Given the description of an element on the screen output the (x, y) to click on. 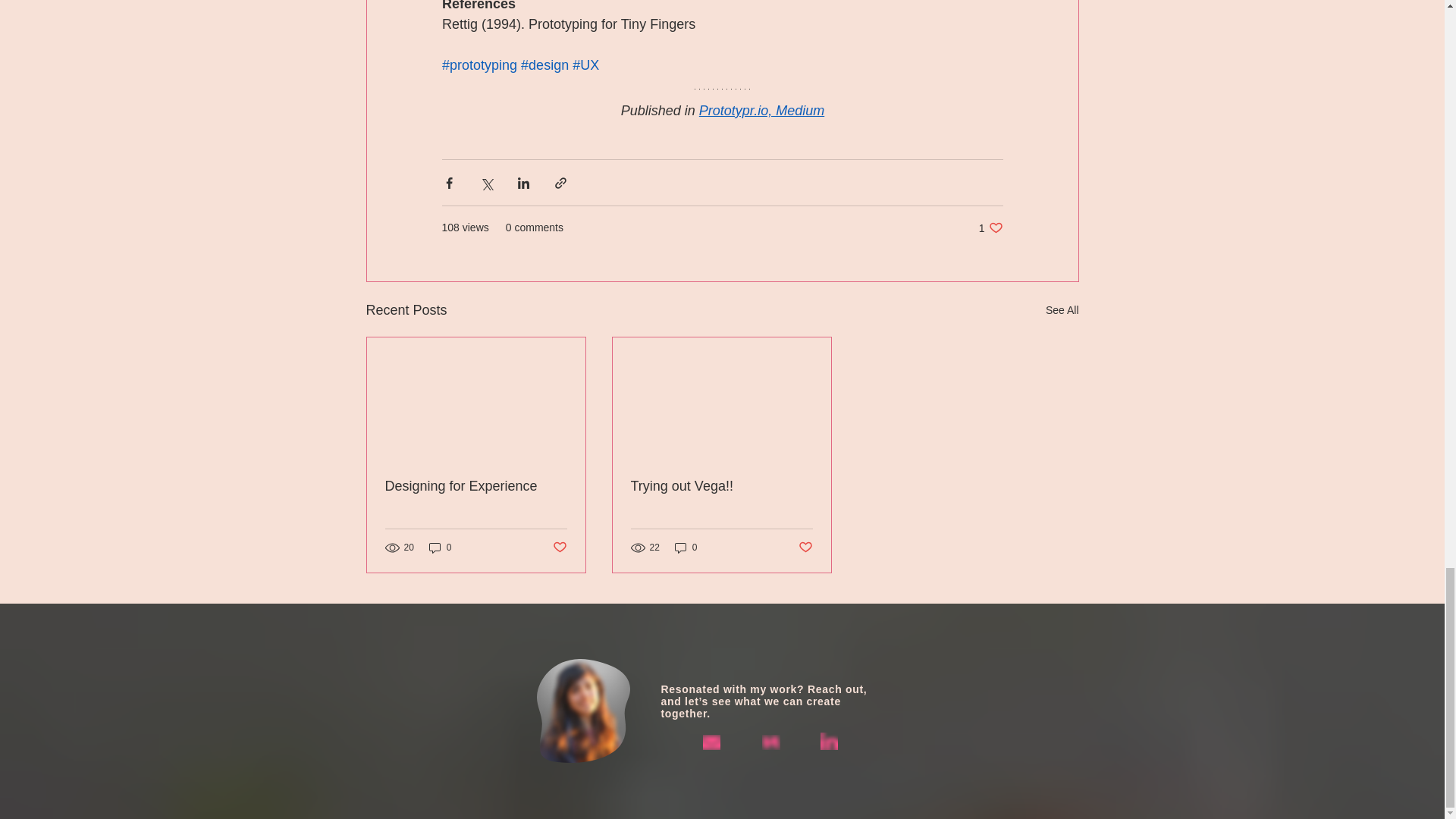
Post not marked as liked (558, 547)
0 (990, 227)
Prototypr.io, Medium (440, 546)
Trying out Vega!! (761, 110)
Post not marked as liked (721, 486)
0 (804, 547)
See All (685, 546)
Designing for Experience (1061, 310)
